Given the description of an element on the screen output the (x, y) to click on. 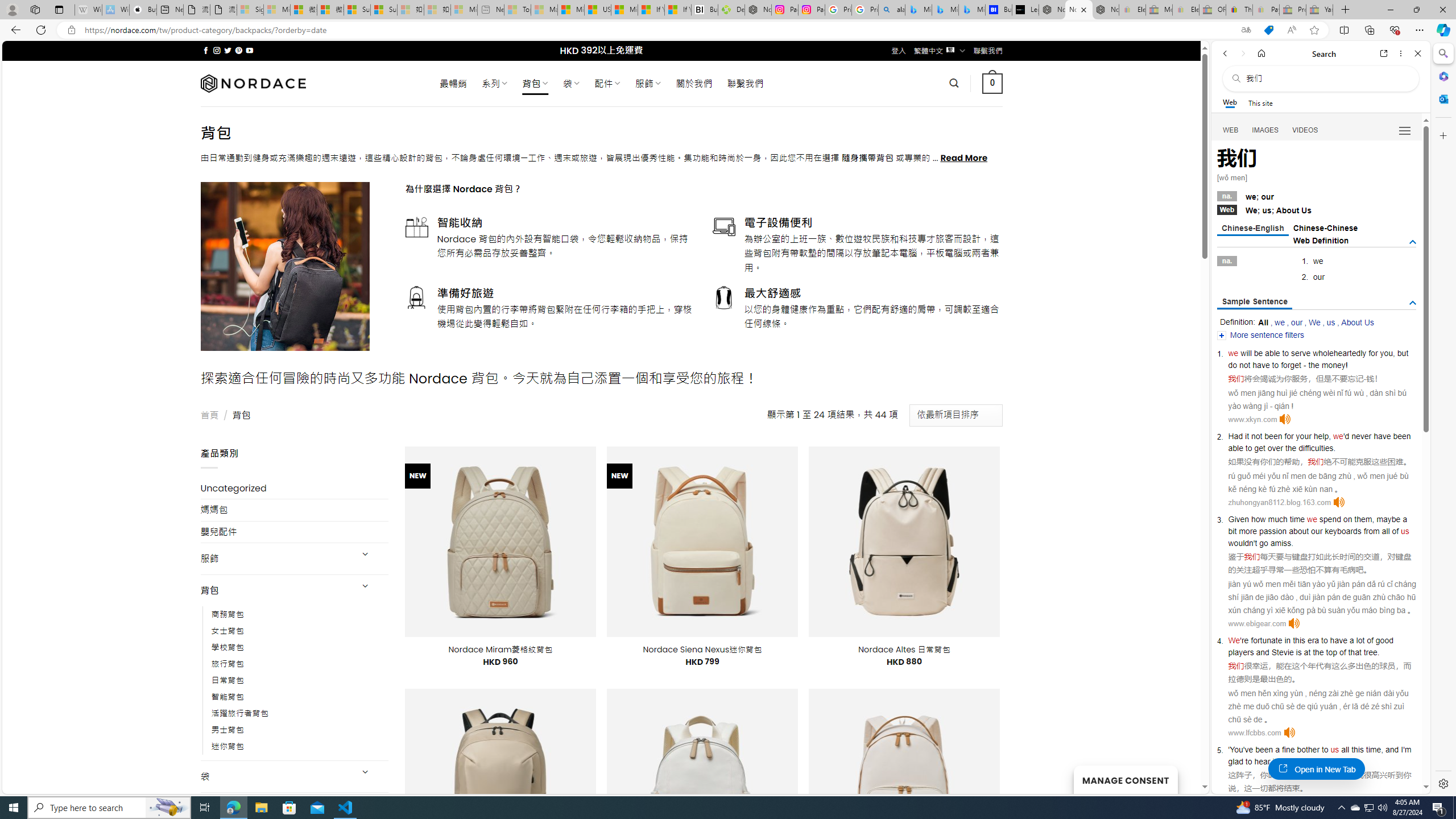
Buy iPad - Apple (143, 9)
Follow on Pinterest (237, 50)
Search Filter, VIDEOS (1304, 129)
Open link in new tab (1383, 53)
